Given the description of an element on the screen output the (x, y) to click on. 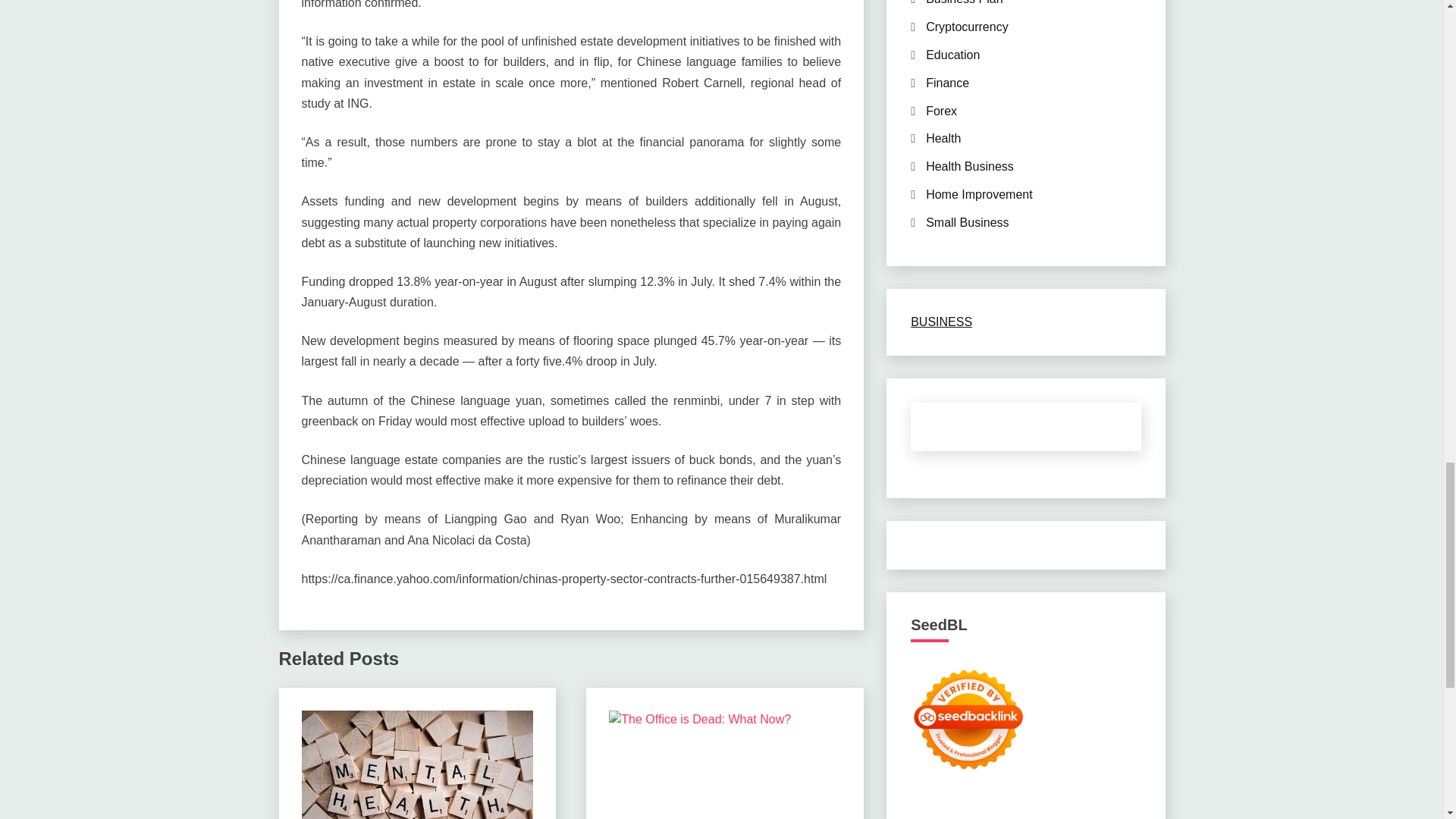
Seedbacklink (968, 719)
The Office is Dead: What Now? (724, 764)
